Given the description of an element on the screen output the (x, y) to click on. 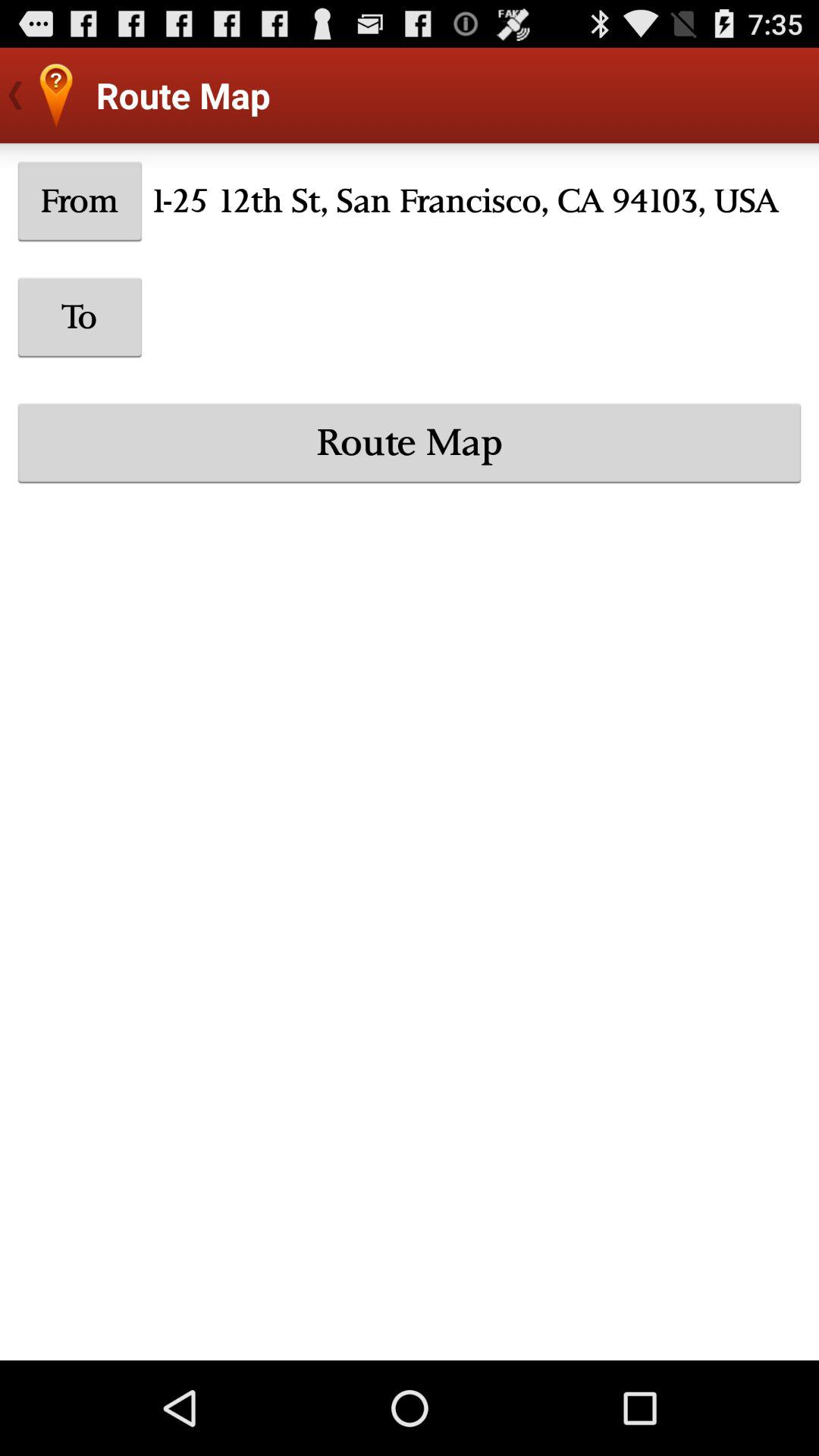
choose the from icon (79, 201)
